Given the description of an element on the screen output the (x, y) to click on. 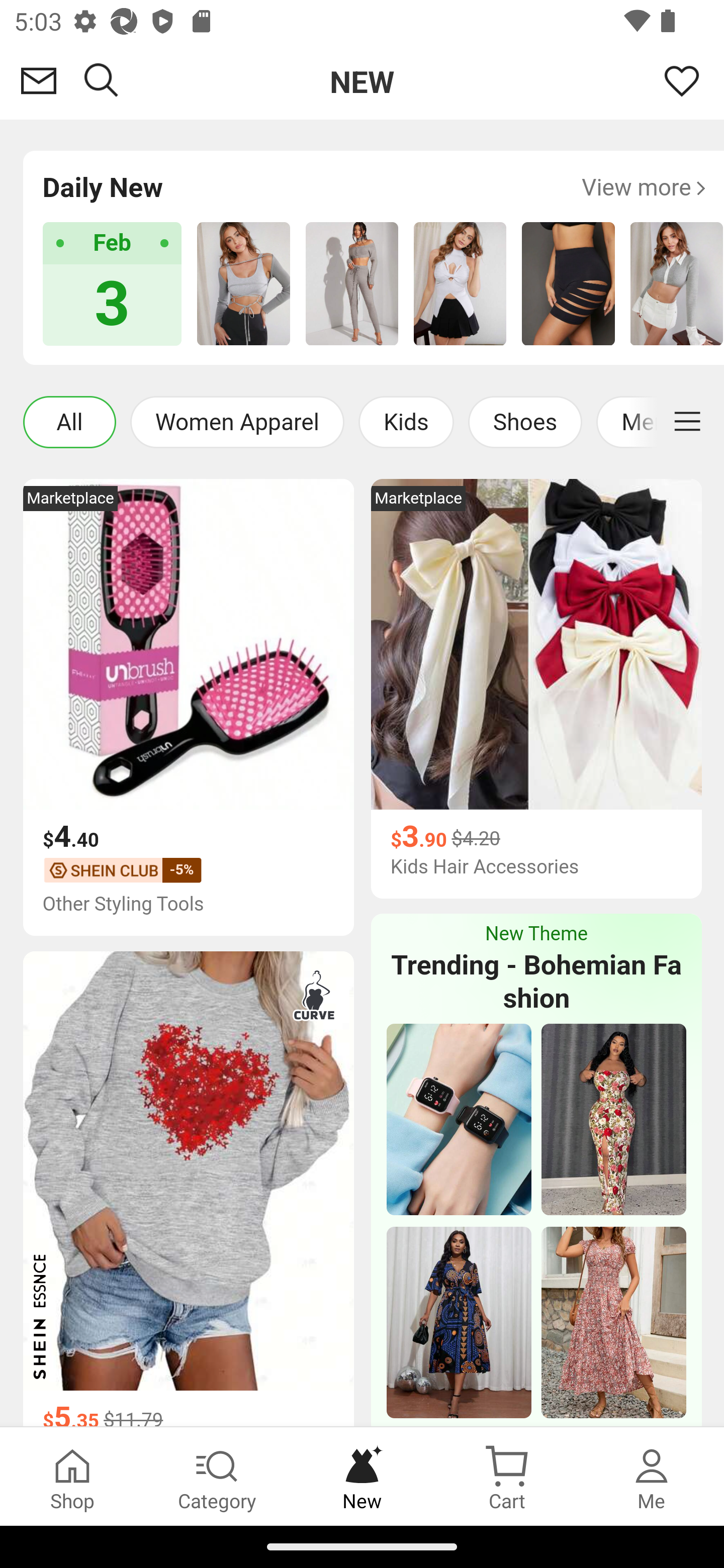
Search NEW Wishlist (362, 80)
Search (101, 80)
Wishlist (681, 80)
View more  (643, 187)
Feb3 (112, 283)
All (68, 420)
Women Apparel (236, 420)
Kids (404, 420)
Shoes (525, 420)
 (686, 420)
$3.90 $4.20 Kids Hair Accessories (535, 853)
New Theme Trending - Bohemian Fashion (535, 968)
Shop (72, 1475)
Category (216, 1475)
Cart (506, 1475)
Me (651, 1475)
